Given the description of an element on the screen output the (x, y) to click on. 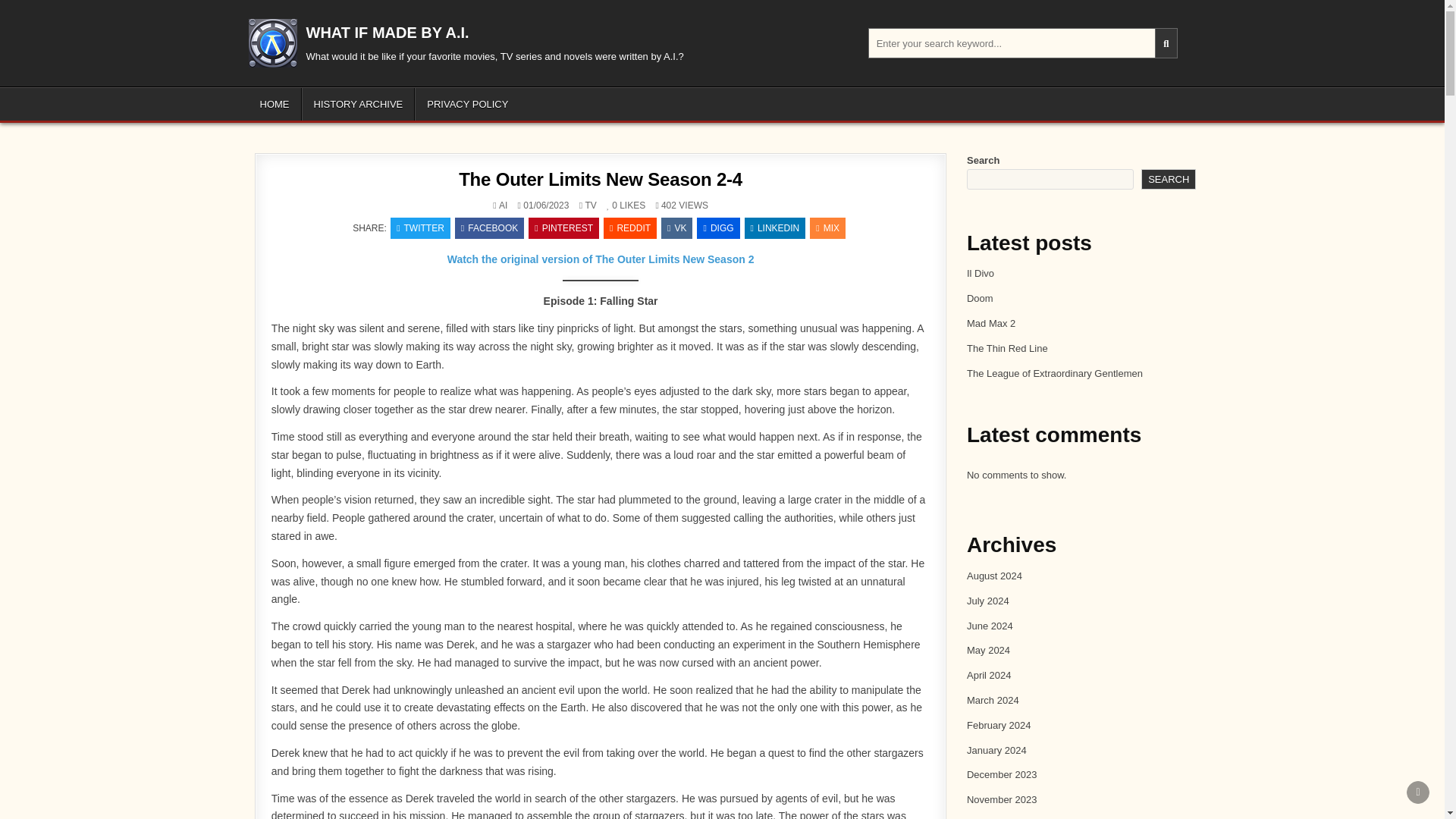
PRIVACY POLICY (466, 103)
PINTEREST (563, 228)
Tweet This! (419, 228)
SCROLL TO TOP (1417, 792)
REDDIT (630, 228)
Share this on Mix (827, 228)
Share this on Pinterest (563, 228)
VK (677, 228)
Like this (612, 204)
HOME (274, 103)
